Given the description of an element on the screen output the (x, y) to click on. 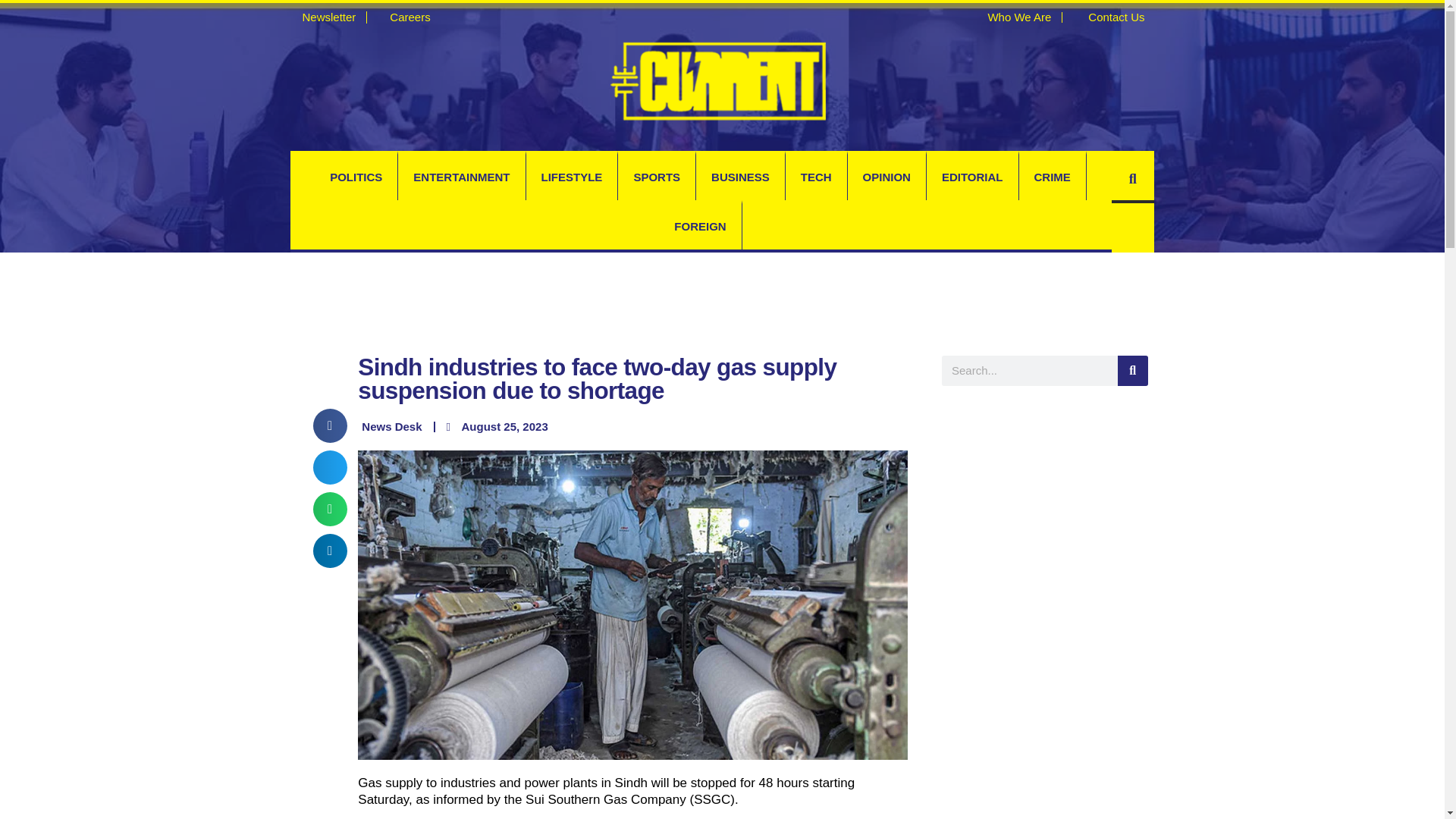
LIFESTYLE (571, 176)
FOREIGN (700, 226)
TECH (816, 176)
Who We Are (1011, 17)
Contact Us (1108, 17)
CRIME (1052, 176)
Careers (403, 17)
OPINION (886, 176)
POLITICS (355, 176)
EDITORIAL (971, 176)
